Given the description of an element on the screen output the (x, y) to click on. 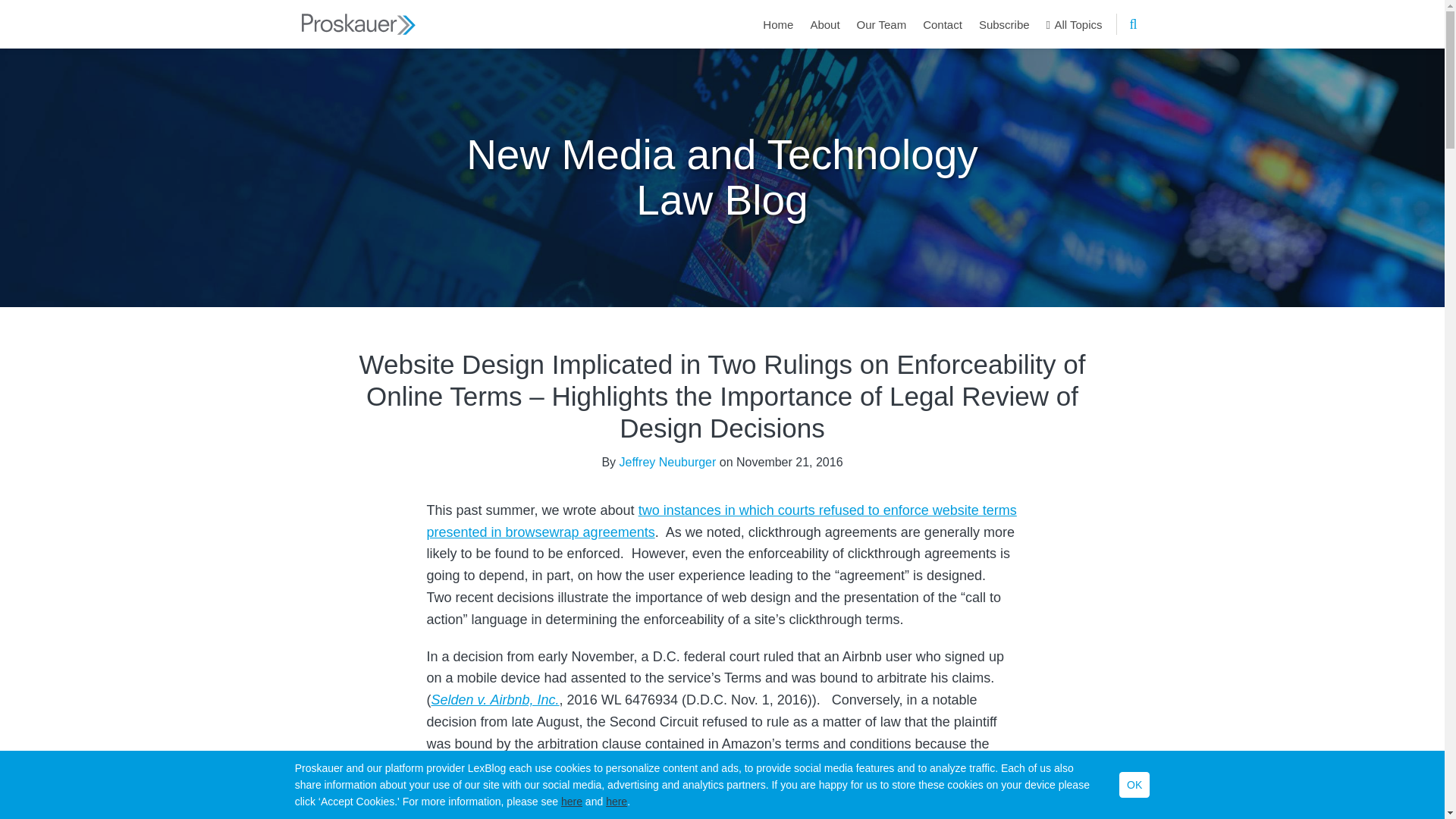
All Topics (1074, 24)
OK (1134, 784)
New Media and Technology Law Blog (721, 176)
Selden v. Airbnb, Inc. (494, 699)
here (616, 801)
Our Team (882, 24)
Jeffrey Neuburger (668, 461)
Nicosia v. Amazon.com, Inc. (739, 786)
Home (777, 24)
About (824, 24)
Subscribe (1003, 24)
Contact (942, 24)
here (571, 801)
